Given the description of an element on the screen output the (x, y) to click on. 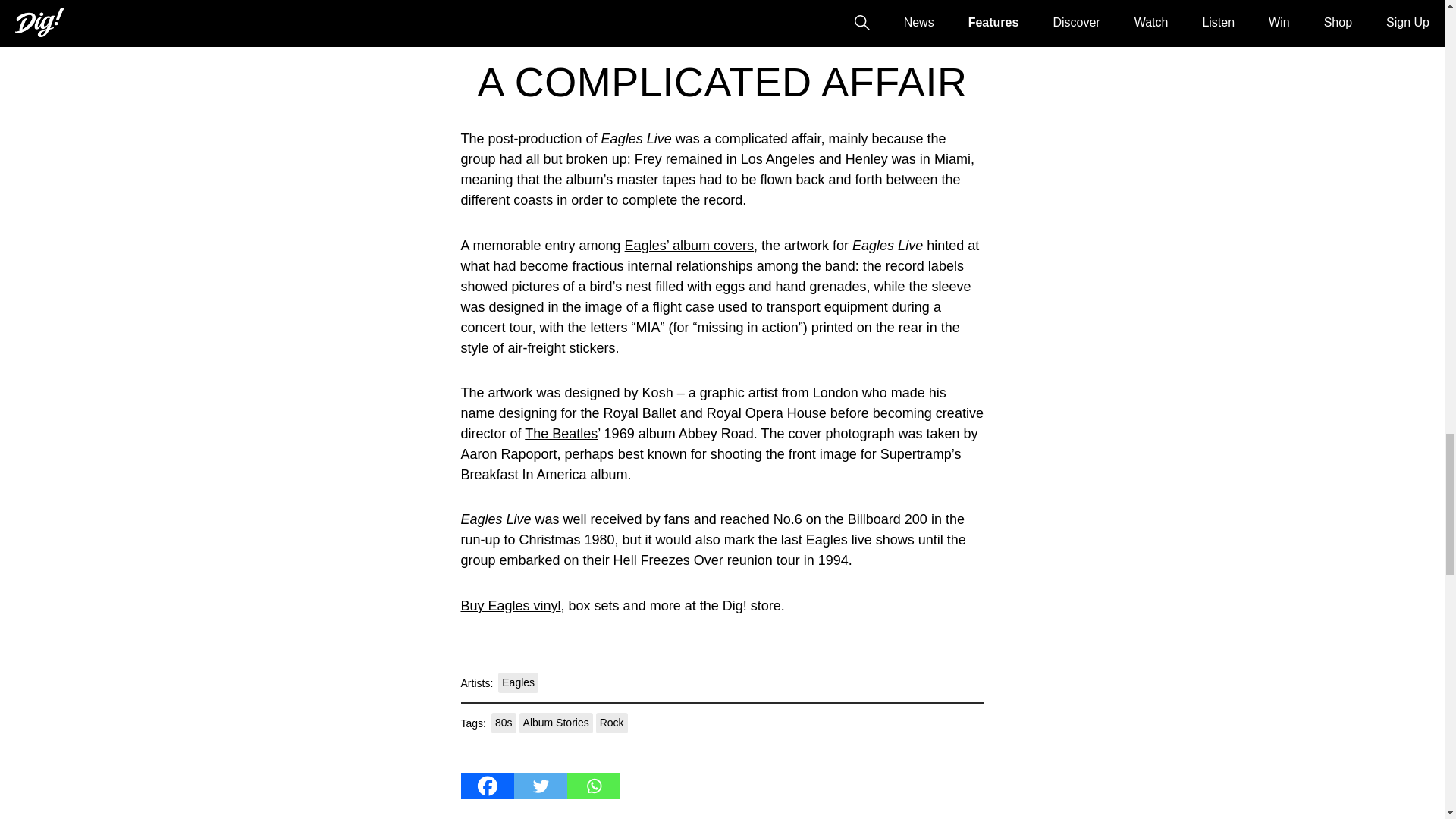
Album Stories (555, 722)
The Beatles (560, 433)
80s (504, 722)
Twitter (540, 786)
Buy Eagles vinyl (510, 605)
Facebook (487, 786)
Eagles (517, 682)
Rock (611, 722)
Whatsapp (593, 786)
